Given the description of an element on the screen output the (x, y) to click on. 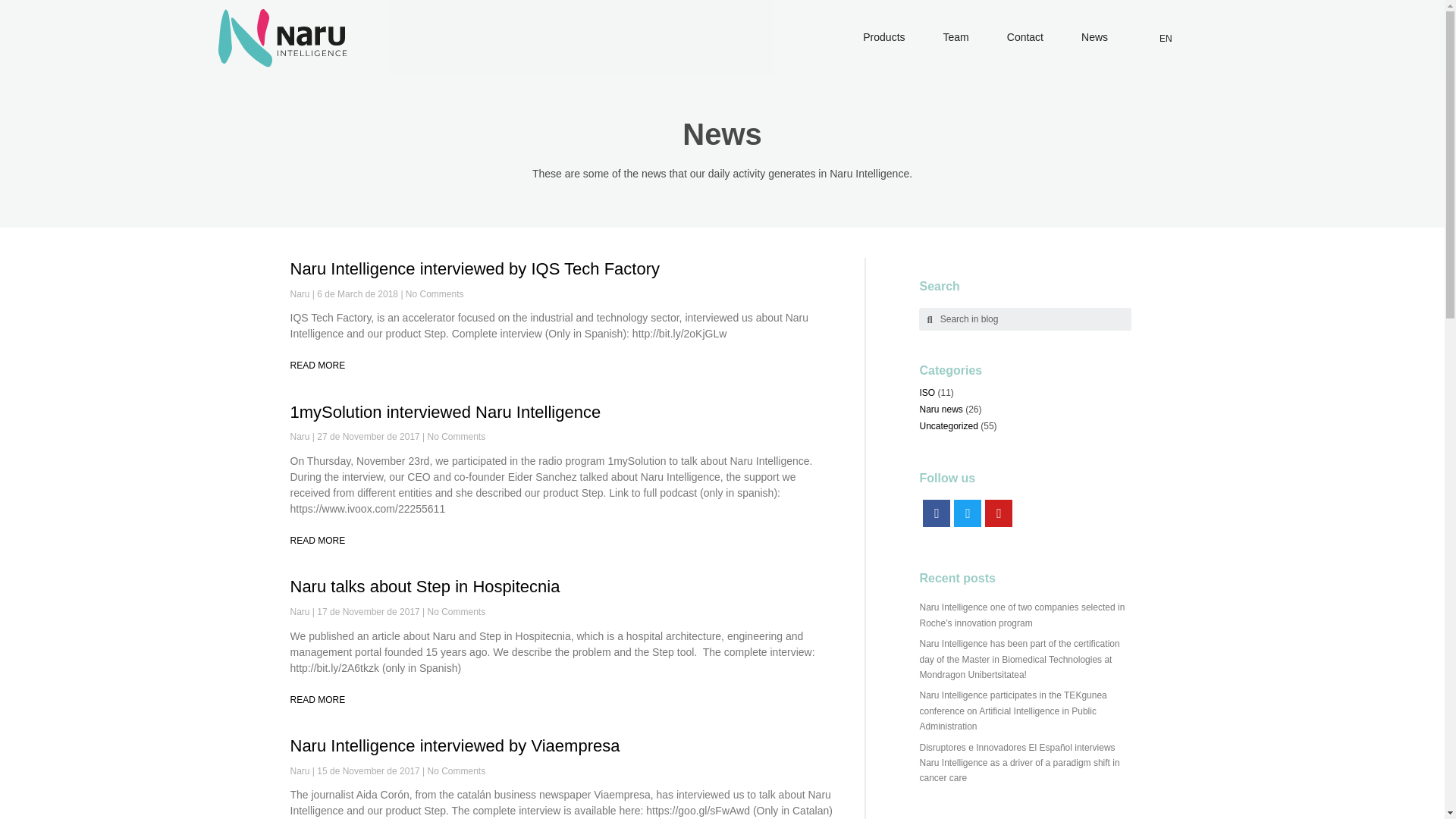
Contact (1028, 37)
1mySolution interviewed Naru Intelligence (444, 411)
READ MORE (317, 699)
Naru Intelligence interviewed by IQS Tech Factory (474, 268)
EN (1165, 37)
Team (959, 37)
News (1098, 37)
READ MORE (317, 365)
Naru talks about Step in Hospitecnia (424, 586)
READ MORE (317, 540)
